Given the description of an element on the screen output the (x, y) to click on. 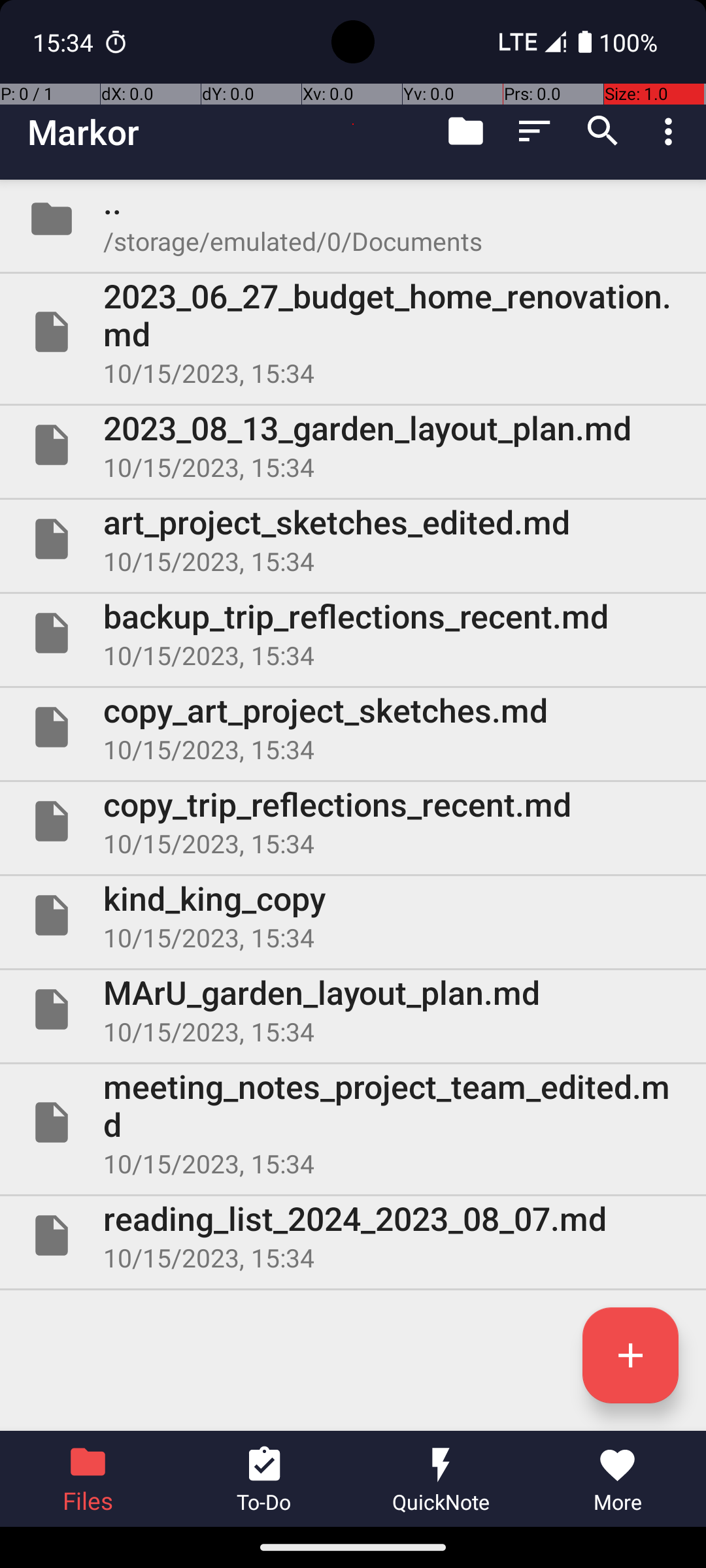
File 2023_06_27_budget_home_renovation.md  Element type: android.widget.LinearLayout (353, 331)
File 2023_08_13_garden_layout_plan.md  Element type: android.widget.LinearLayout (353, 444)
File art_project_sketches_edited.md  Element type: android.widget.LinearLayout (353, 538)
File backup_trip_reflections_recent.md  Element type: android.widget.LinearLayout (353, 632)
File copy_art_project_sketches.md  Element type: android.widget.LinearLayout (353, 726)
File copy_trip_reflections_recent.md  Element type: android.widget.LinearLayout (353, 821)
File kind_king_copy  Element type: android.widget.LinearLayout (353, 915)
File MArU_garden_layout_plan.md  Element type: android.widget.LinearLayout (353, 1009)
File meeting_notes_project_team_edited.md  Element type: android.widget.LinearLayout (353, 1122)
File reading_list_2024_2023_08_07.md  Element type: android.widget.LinearLayout (353, 1235)
